Given the description of an element on the screen output the (x, y) to click on. 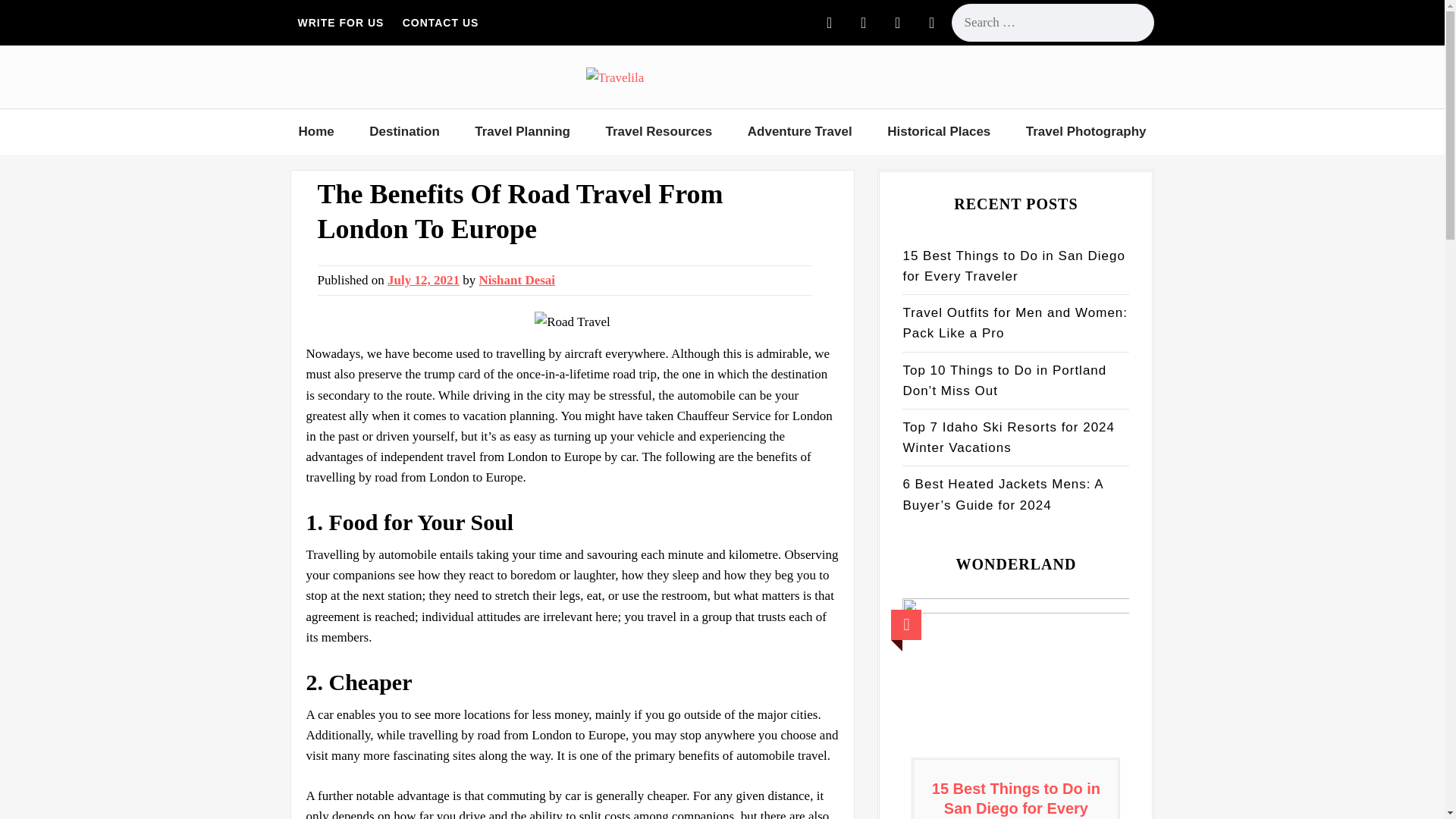
Travel Planning (521, 131)
Travel Resources (658, 131)
Travelila (640, 106)
WRITE FOR US (340, 22)
CONTACT US (440, 22)
Adventure Travel (799, 131)
Destination (404, 131)
Historical Places (938, 131)
Nishant Desai (517, 279)
Home (315, 131)
July 12, 2021 (423, 279)
Travel Photography (1085, 131)
